Given the description of an element on the screen output the (x, y) to click on. 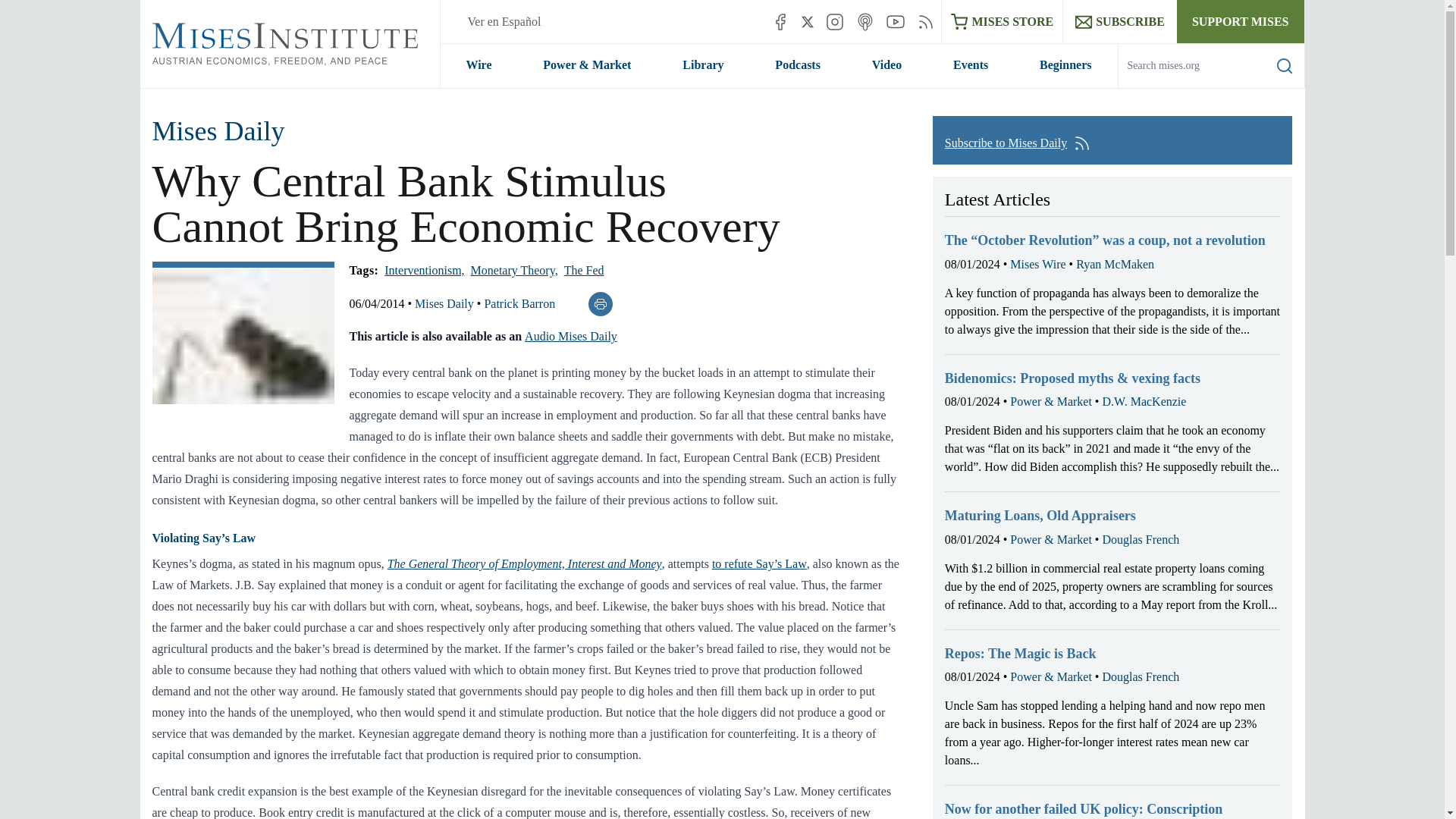
Mises Instagram (834, 21)
Wire (477, 65)
MISES STORE (1002, 21)
Mises X (807, 21)
Beginners (1064, 65)
Mises itunes (865, 21)
Podcasts (797, 65)
Mises Facebook (780, 21)
SUBSCRIBE (1119, 21)
